Given the description of an element on the screen output the (x, y) to click on. 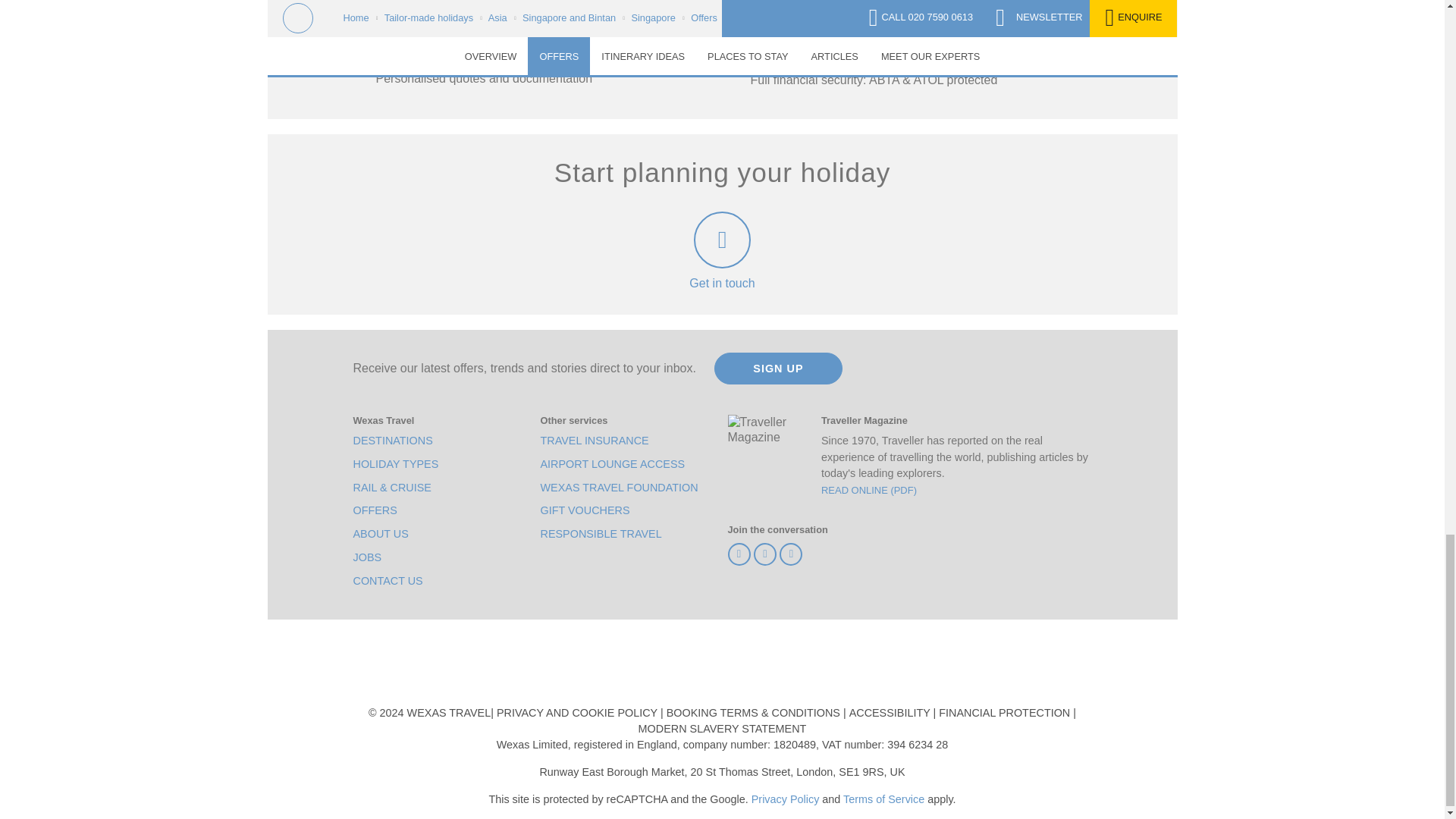
Holiday Types (396, 464)
Responsible Travel (600, 534)
Destinations (392, 440)
About us (381, 534)
Gift Vouchers (584, 510)
Wexas Travel Foundation (618, 487)
Offers (375, 510)
Airport Lounge Access (612, 464)
Travel Insurance (593, 440)
Contact us (388, 580)
